Given the description of an element on the screen output the (x, y) to click on. 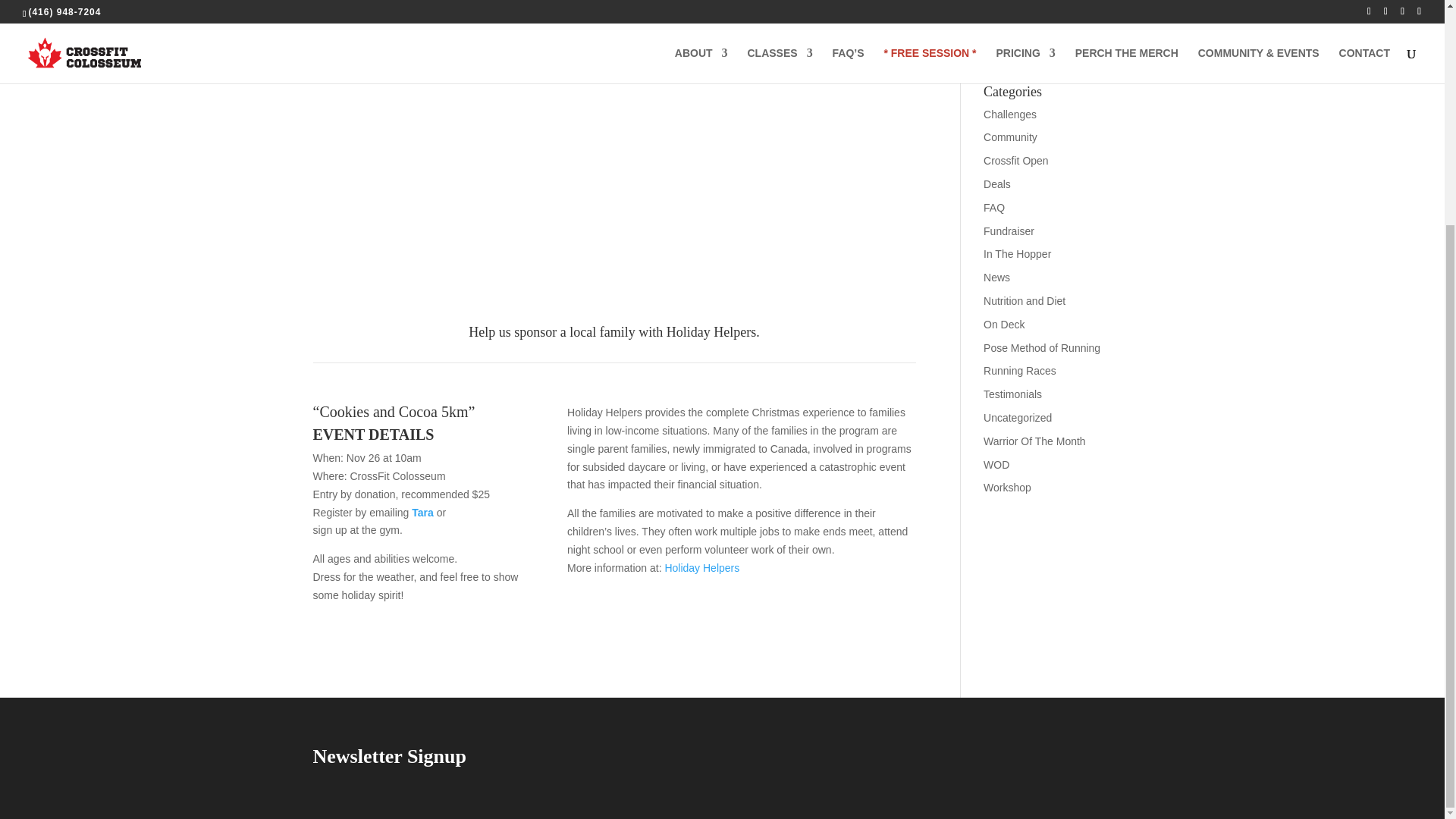
Holiday Helpers (701, 567)
Challenges (1010, 114)
Tara (422, 512)
